Given the description of an element on the screen output the (x, y) to click on. 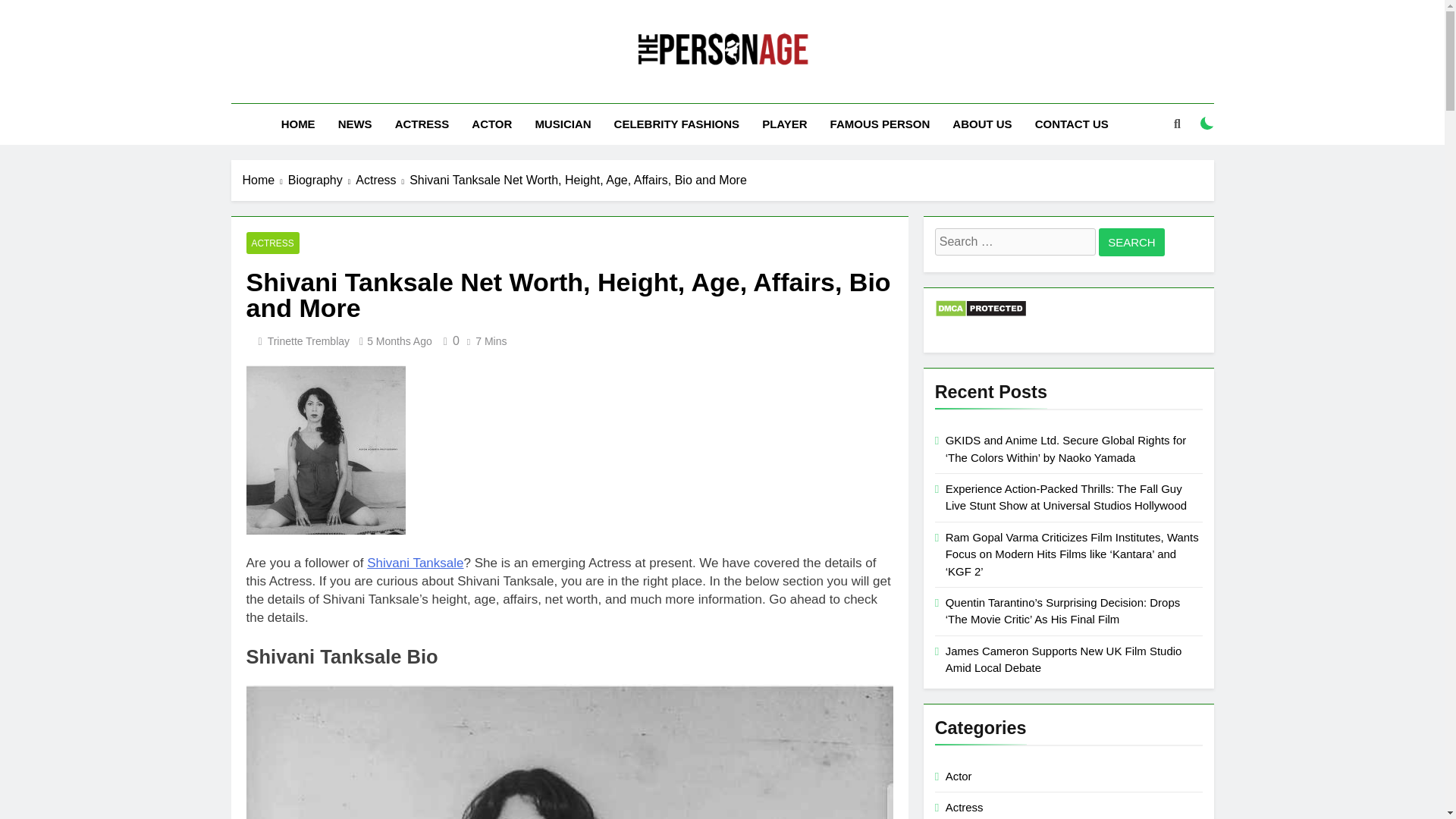
CELEBRITY FASHIONS (676, 124)
Actress (382, 180)
NEWS (355, 124)
The Personage (587, 89)
Search (1131, 242)
Biography (322, 180)
PLAYER (784, 124)
Home (265, 180)
CONTACT US (1071, 124)
5 Months Ago (399, 340)
